Given the description of an element on the screen output the (x, y) to click on. 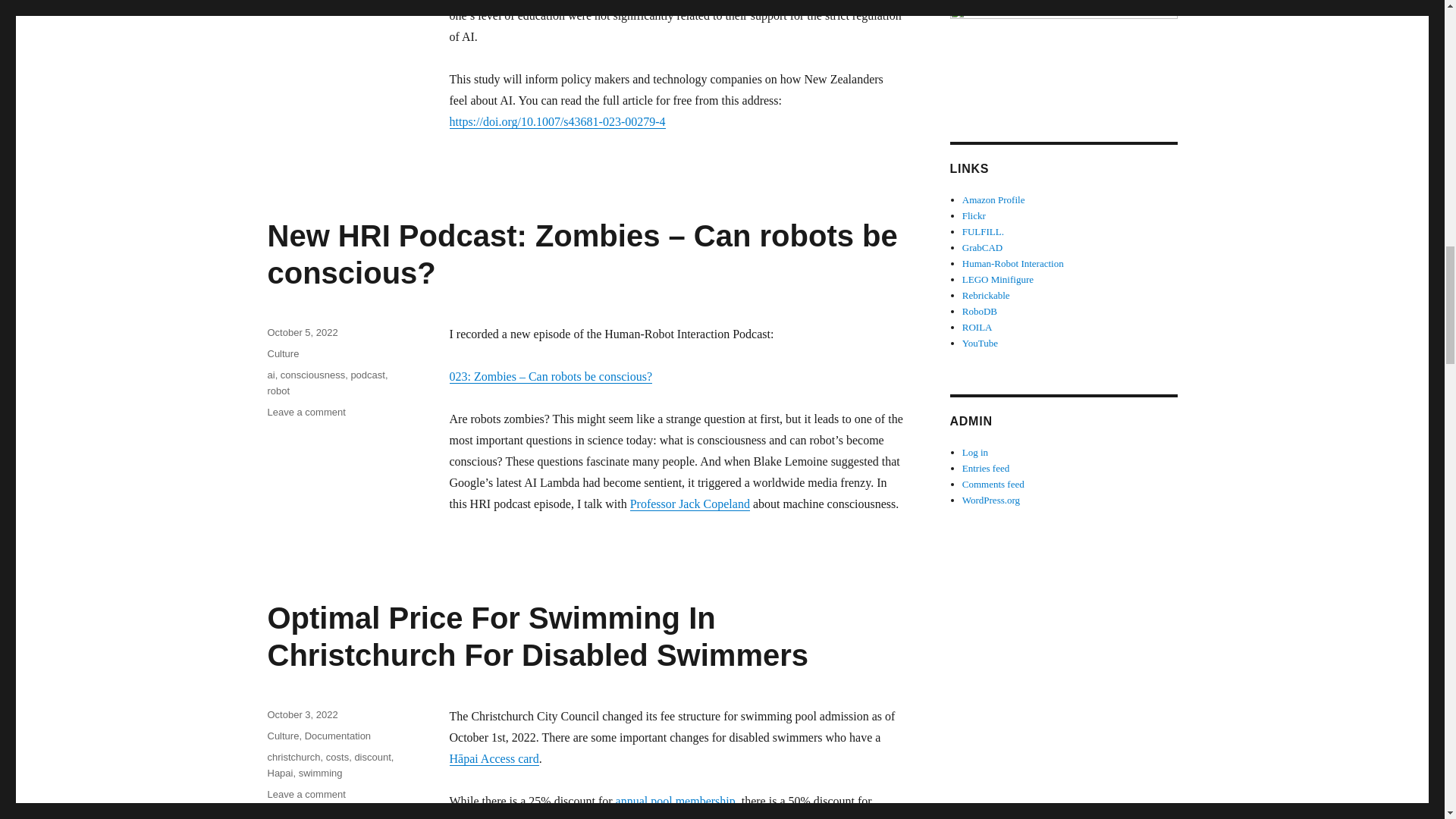
Professor Jack Copeland (689, 503)
My YouTube Channel (979, 342)
Complete the illustrations and unwind your mind. (983, 231)
robot (277, 390)
My Rebrickable Profile (986, 295)
A database of robots (979, 310)
Culture (282, 353)
My Flickr Stream (973, 215)
The home of the HRI book and the podcast.  (1013, 263)
podcast (367, 374)
